Given the description of an element on the screen output the (x, y) to click on. 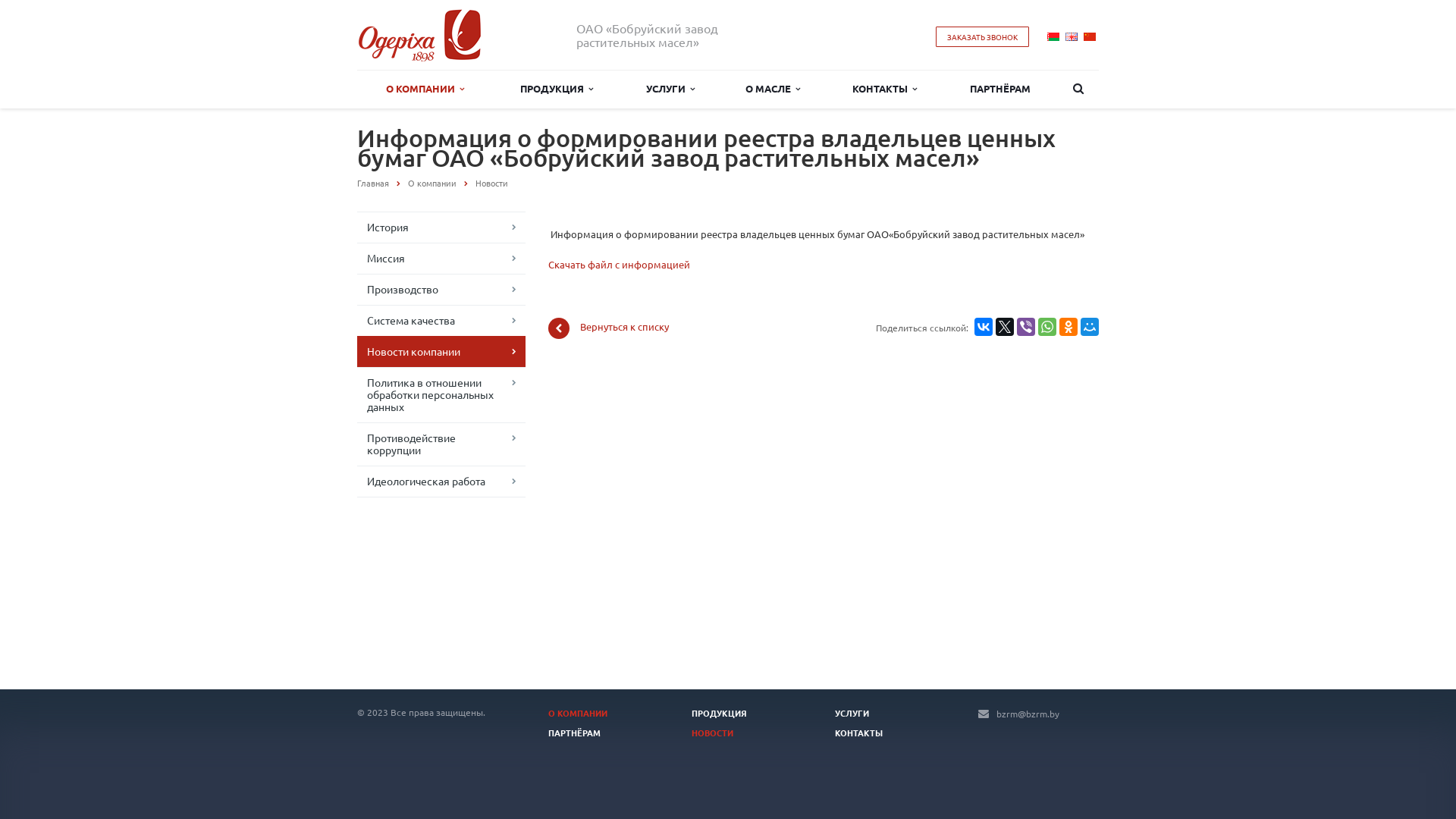
Twitter Element type: hover (1004, 326)
bzrm.by Element type: hover (419, 34)
WhatsApp Element type: hover (1047, 326)
bzrm@bzrm.by Element type: text (1027, 713)
Viber Element type: hover (1025, 326)
